Given the description of an element on the screen output the (x, y) to click on. 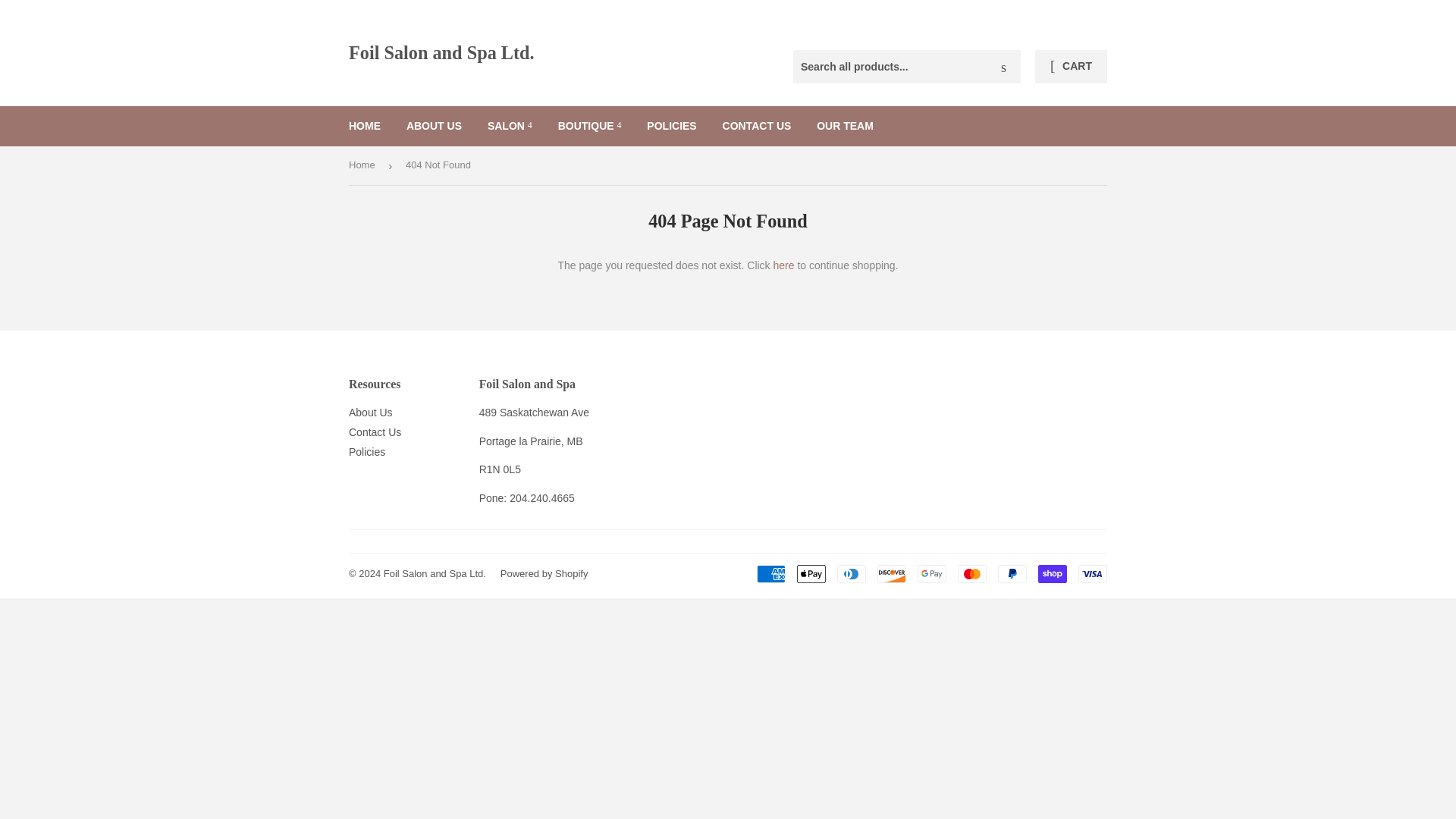
American Express (771, 574)
Search (1003, 67)
Apple Pay (810, 574)
CART (1070, 66)
Foil Salon and Spa Ltd. (538, 53)
Mastercard (972, 574)
Visa (1092, 574)
SALON (509, 125)
BOUTIQUE (590, 125)
HOME (364, 125)
